Given the description of an element on the screen output the (x, y) to click on. 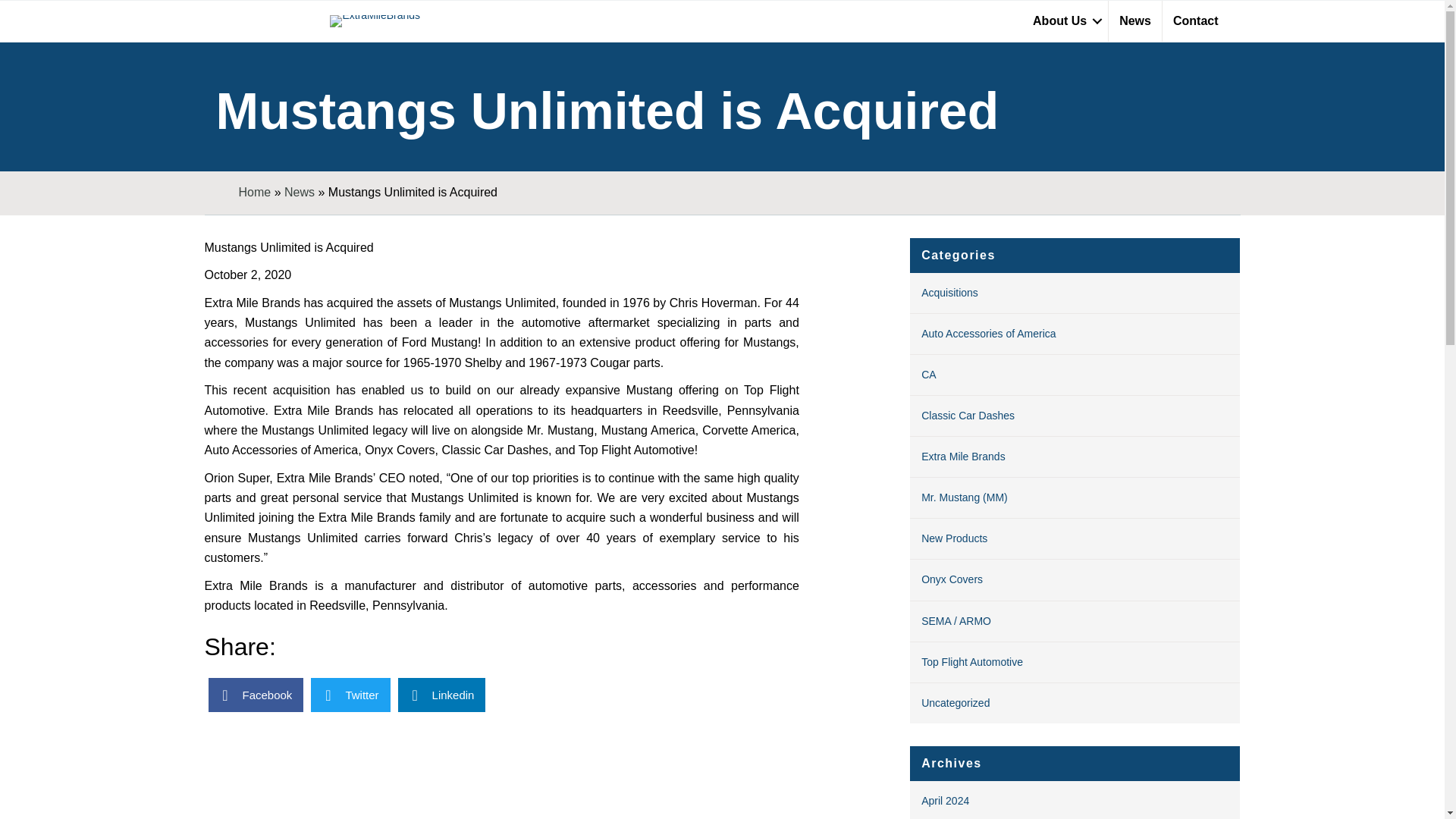
Uncategorized (955, 702)
Classic Car Dashes (967, 415)
News (298, 192)
Acquisitions (949, 292)
Extra Mile Brands (962, 456)
Onyx Covers (951, 579)
ExtraMileBrands (375, 21)
Contact (1194, 20)
Top Flight Automotive (972, 662)
About Us (1065, 20)
April 2024 (945, 800)
Auto Accessories of America (988, 333)
Linkedin (441, 694)
New Products (954, 538)
Twitter (350, 694)
